Given the description of an element on the screen output the (x, y) to click on. 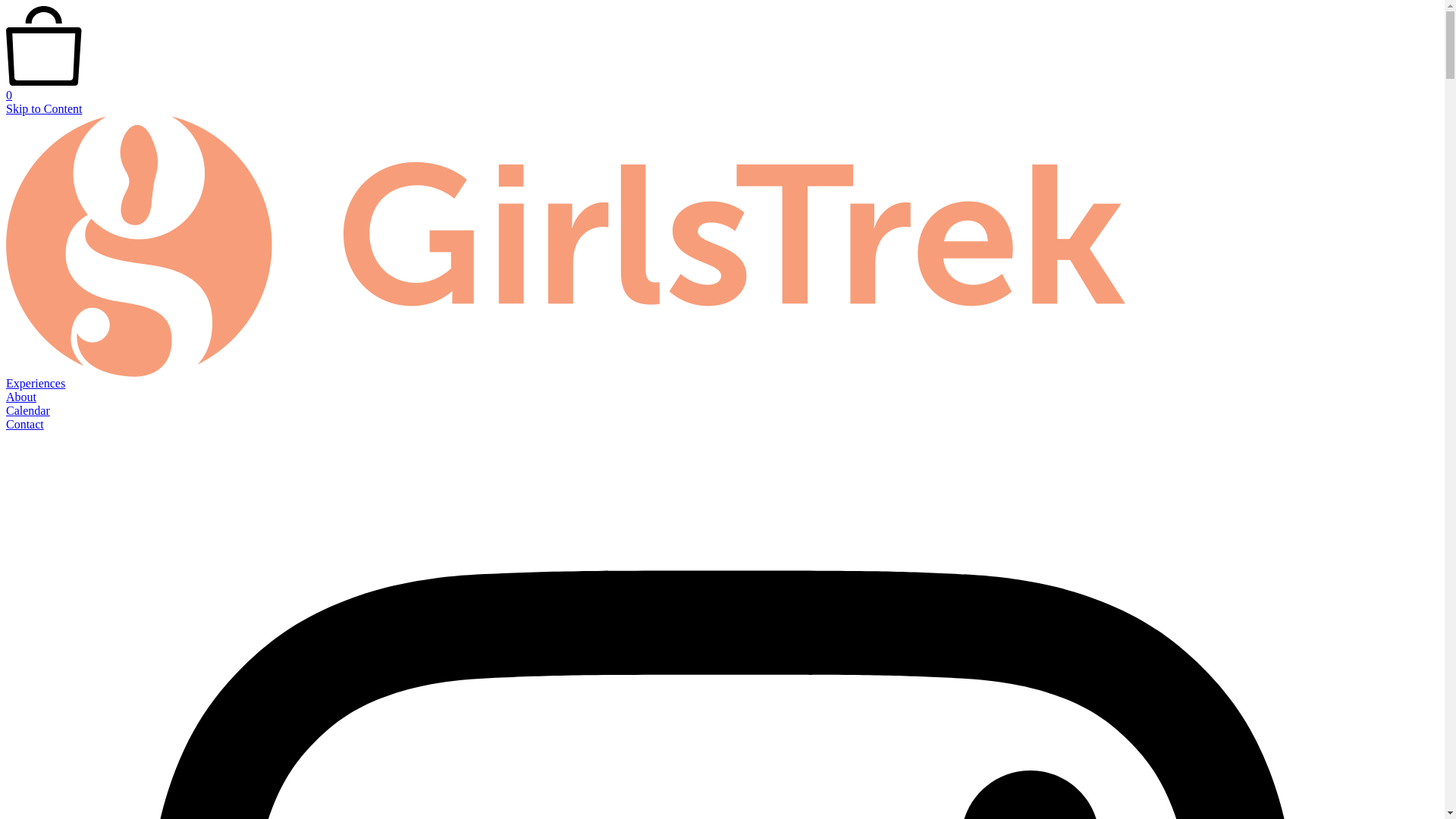
Experiences Element type: text (35, 382)
About Element type: text (21, 396)
Contact Element type: text (24, 423)
Skip to Content Element type: text (43, 108)
0 Element type: text (722, 88)
Calendar Element type: text (28, 410)
